Given the description of an element on the screen output the (x, y) to click on. 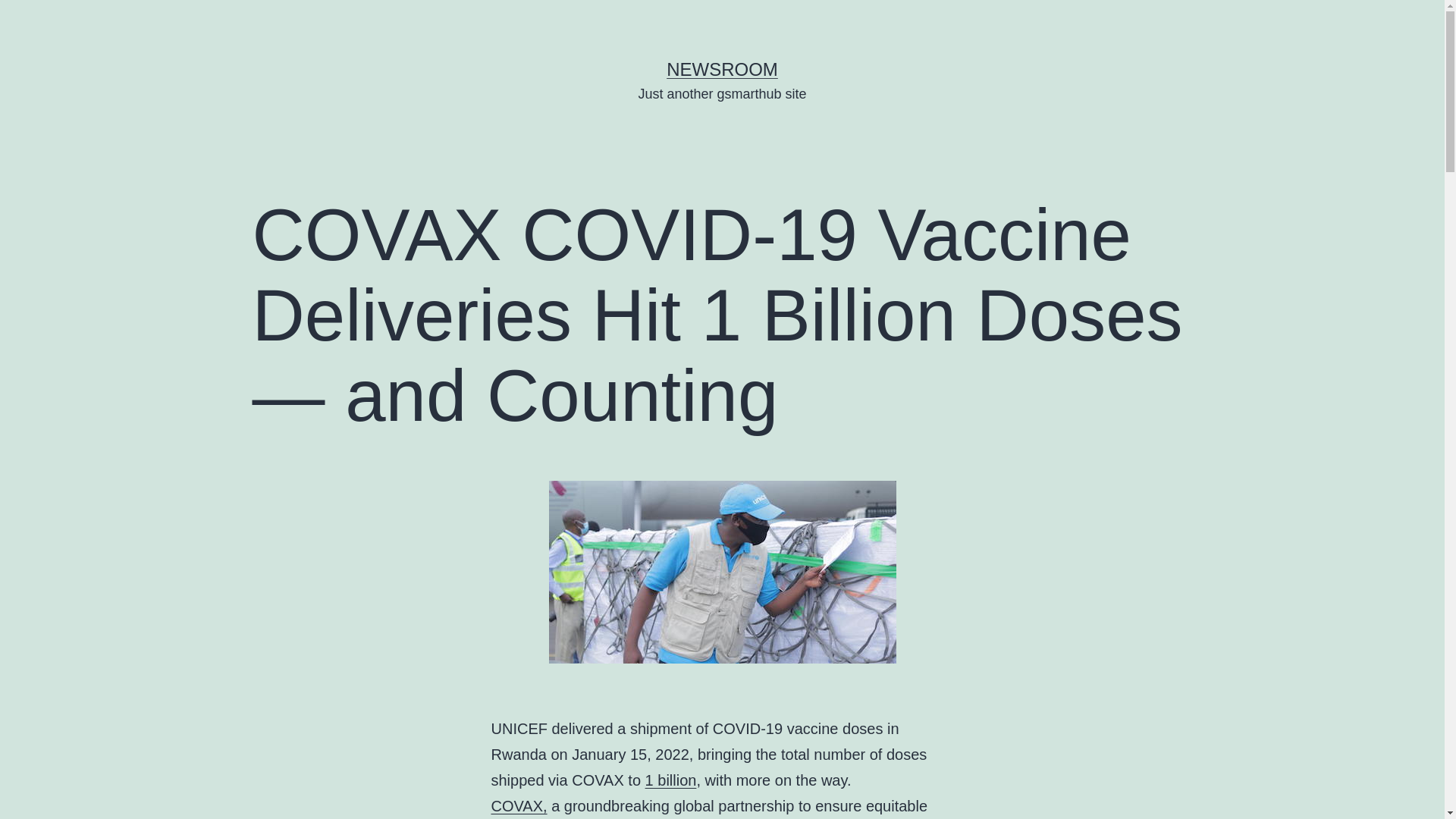
COVAX, (519, 805)
1 billion (671, 780)
NEWSROOM (721, 68)
